Given the description of an element on the screen output the (x, y) to click on. 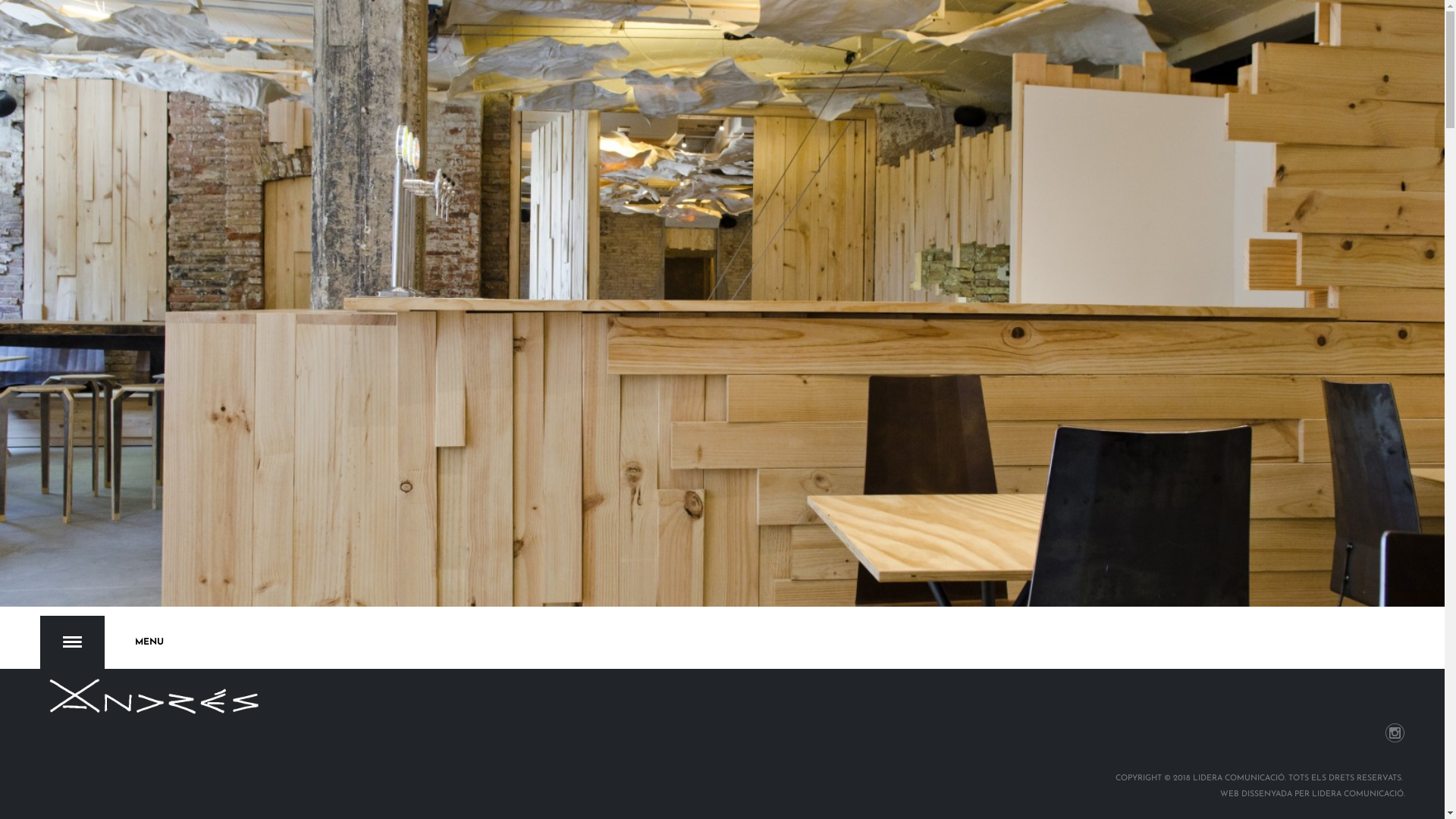
Instagram Element type: text (1394, 732)
